Given the description of an element on the screen output the (x, y) to click on. 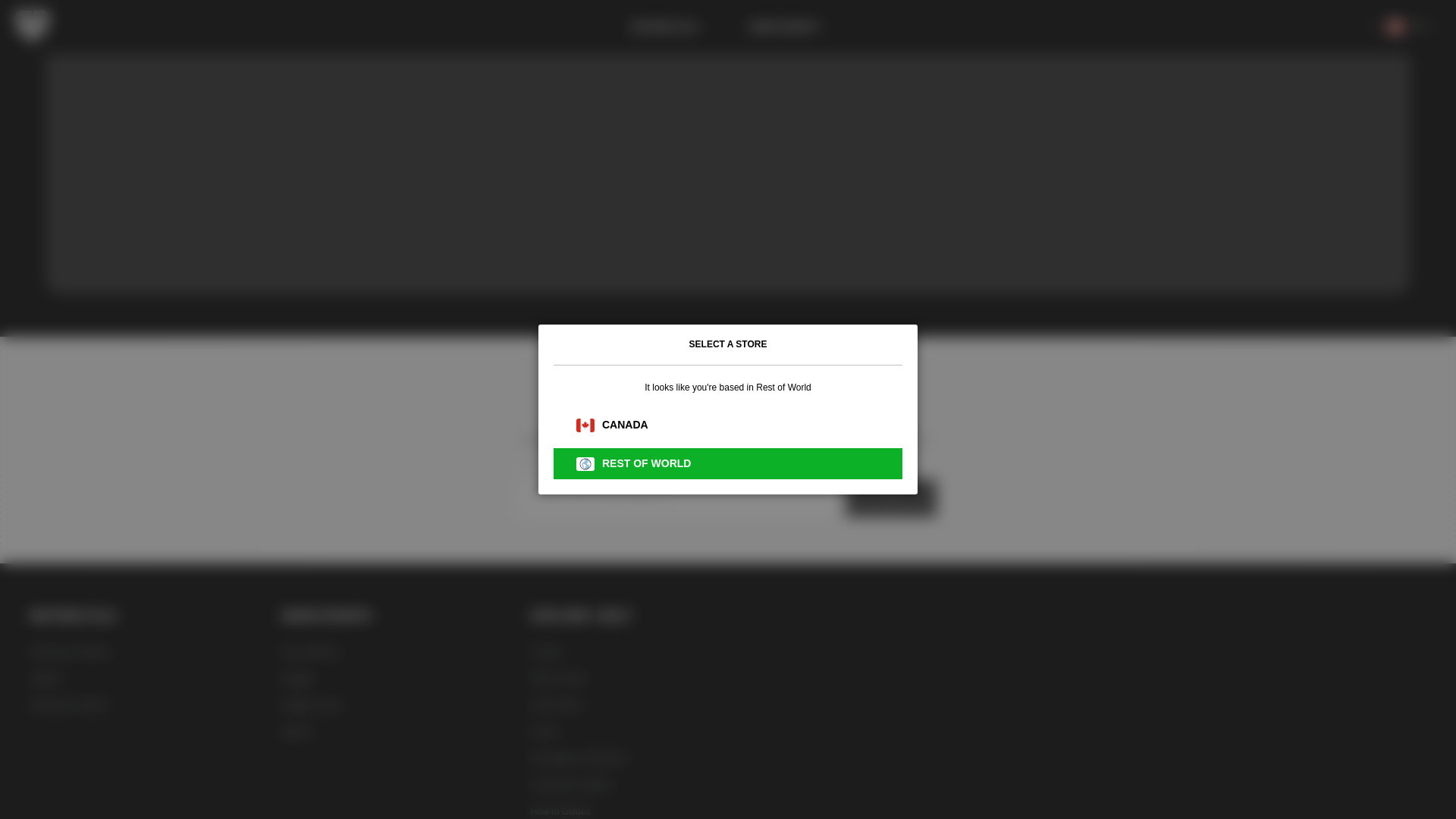
Subscribe (890, 497)
